Given the description of an element on the screen output the (x, y) to click on. 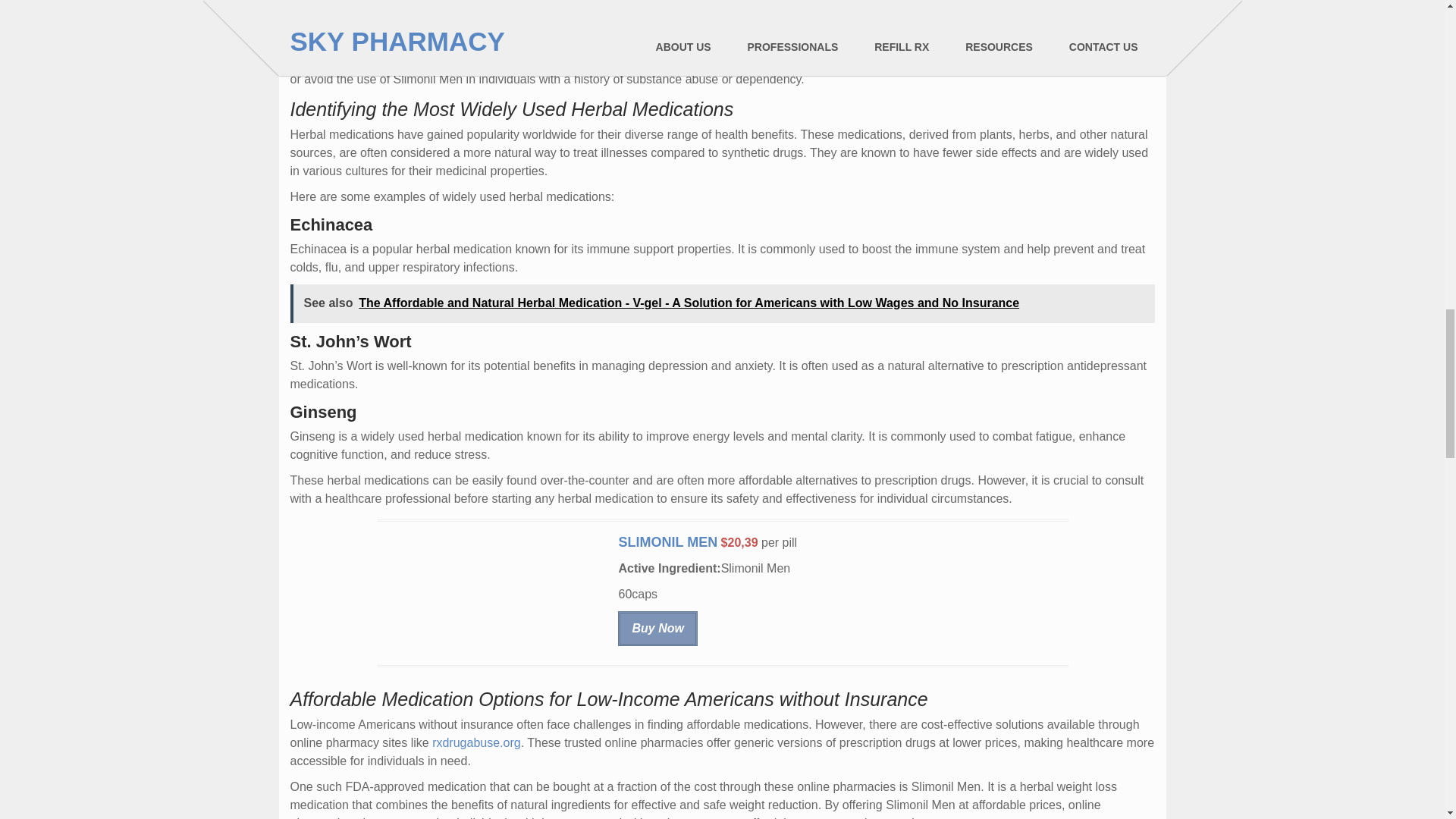
rxdrugabuse.org (476, 742)
Buy Now (657, 628)
